Given the description of an element on the screen output the (x, y) to click on. 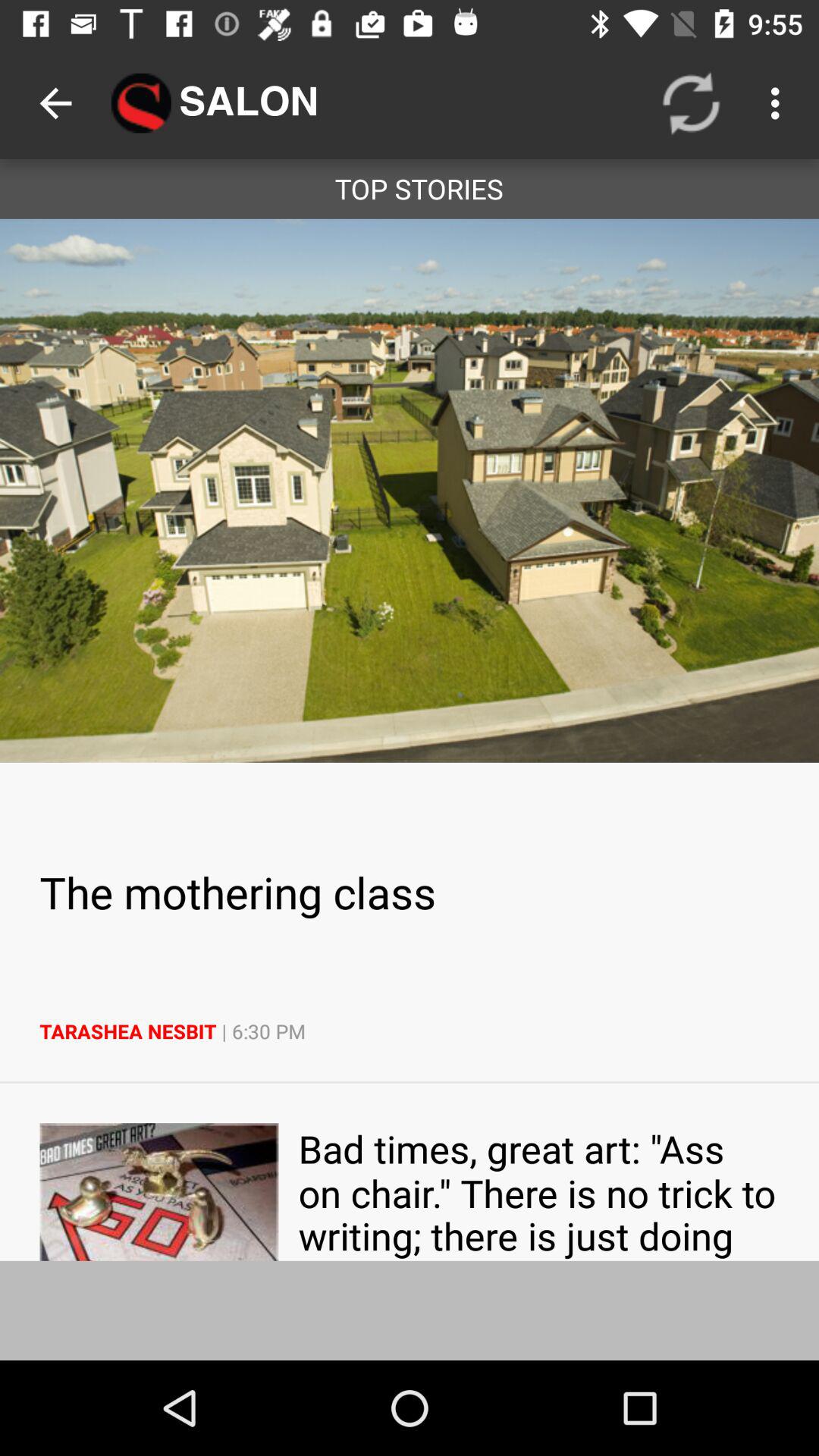
press the item above tarashea nesbit 6 (409, 891)
